Given the description of an element on the screen output the (x, y) to click on. 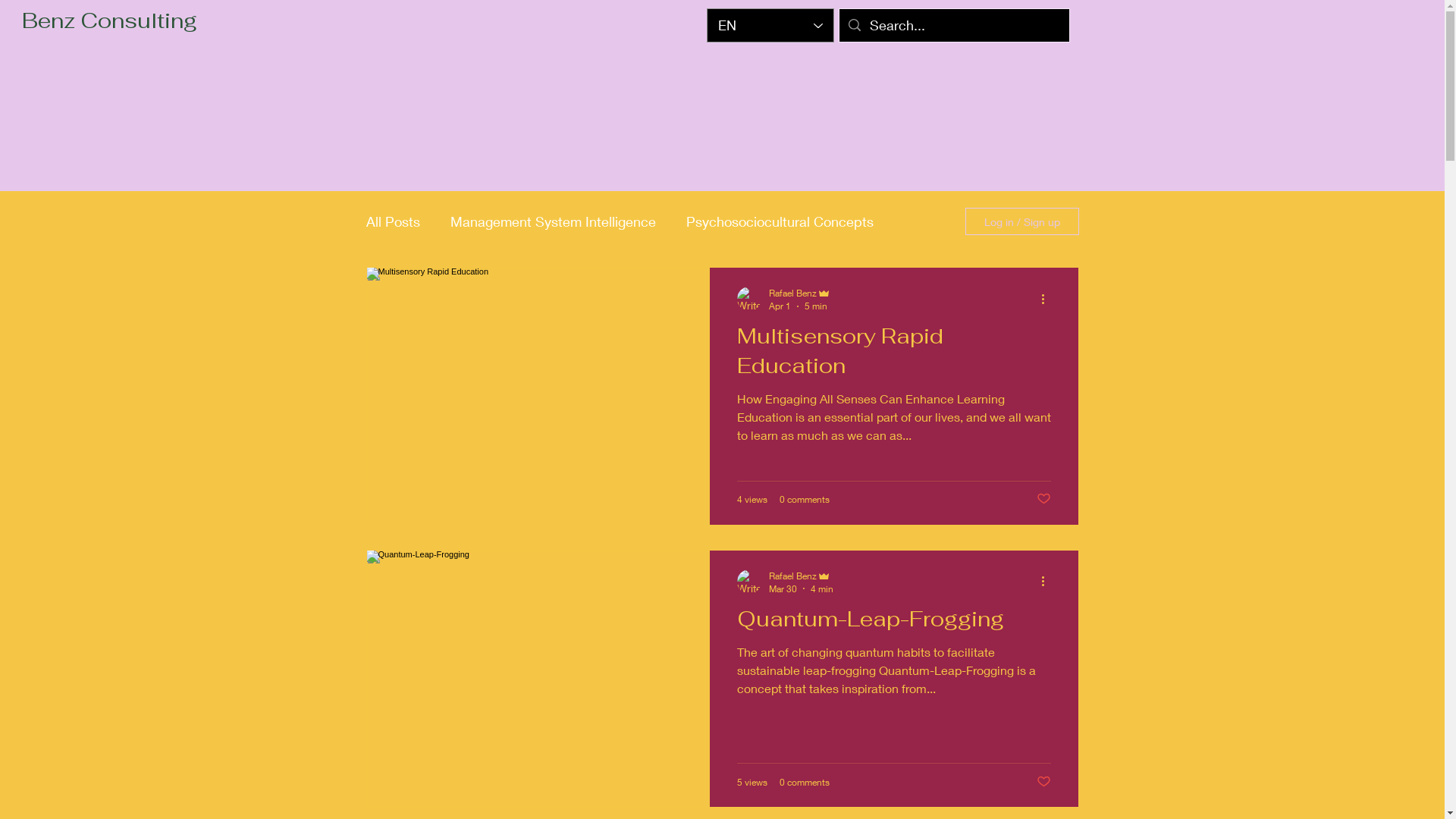
Psychosociocultural Concepts Element type: text (778, 221)
0 comments Element type: text (804, 781)
Management System Intelligence Element type: text (552, 221)
Post not marked as liked Element type: text (1042, 781)
Quantum-Leap-Frogging Element type: text (894, 623)
Benz Consulting Element type: text (109, 21)
0 comments Element type: text (804, 499)
Post not marked as liked Element type: text (1042, 499)
Multisensory Rapid Education Element type: text (894, 354)
Log in / Sign up Element type: text (1021, 221)
All Posts Element type: text (392, 221)
